Given the description of an element on the screen output the (x, y) to click on. 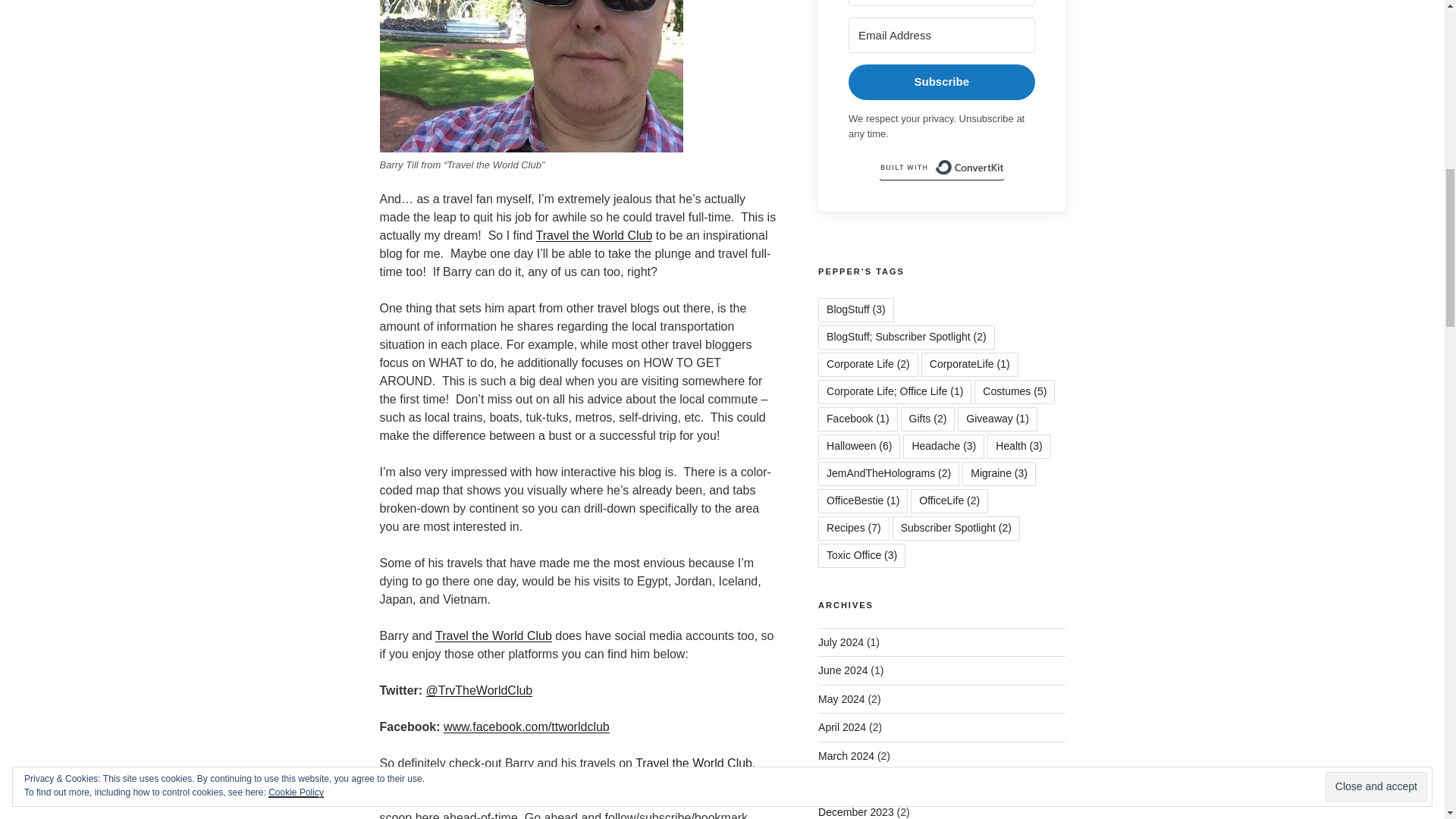
Travel the World Club (593, 235)
Travel the World Club (493, 635)
Travel the World Club (693, 762)
